Given the description of an element on the screen output the (x, y) to click on. 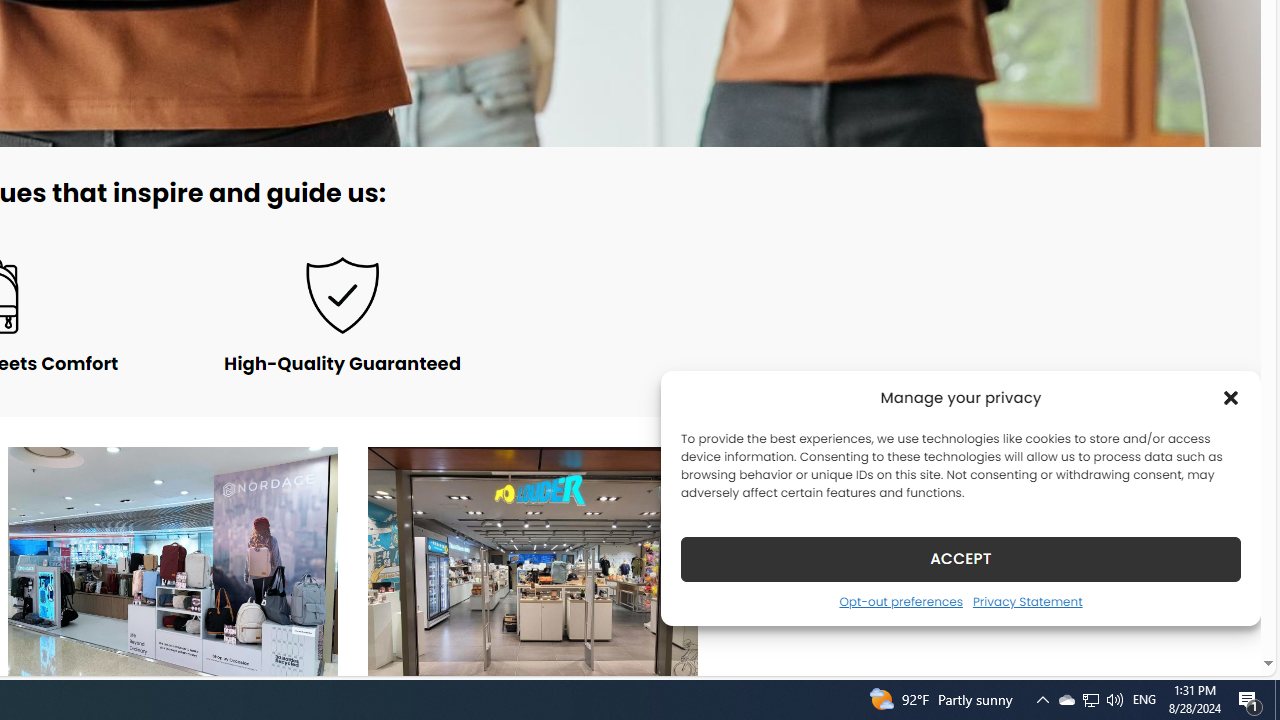
Class: cmplz-close (1231, 397)
Privacy Statement (1026, 601)
Opt-out preferences (900, 601)
ACCEPT (960, 558)
